Given the description of an element on the screen output the (x, y) to click on. 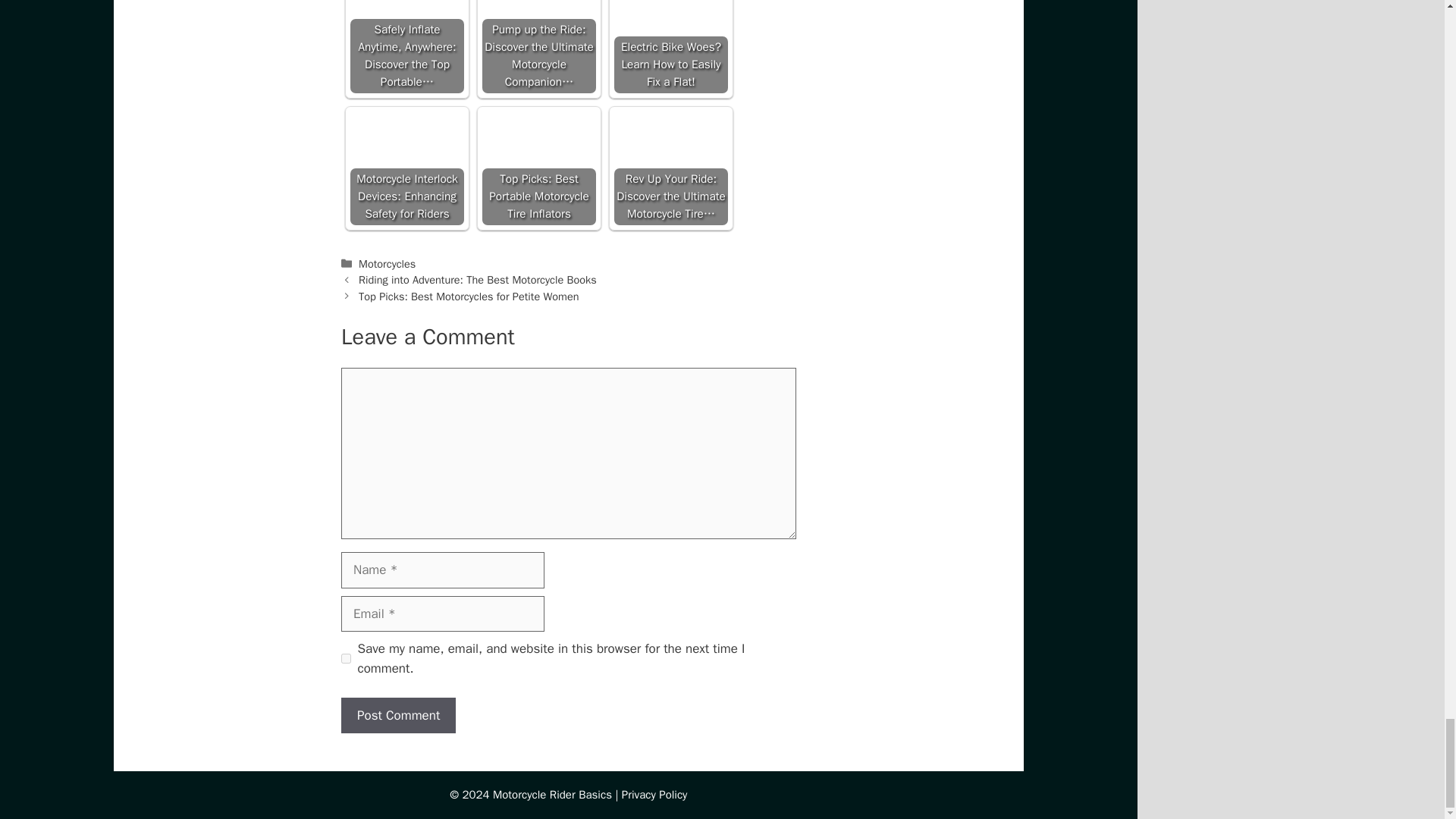
Electric Bike Woes? Learn How to Easily Fix a Flat! (671, 46)
Motorcycle Interlock Devices: Enhancing Safety for Riders (407, 149)
Post Comment (397, 715)
Privacy Policy (654, 794)
Electric Bike Woes? Learn How to Easily Fix a Flat! (671, 27)
Riding into Adventure: The Best Motorcycle Books (477, 279)
Motorcycles (386, 264)
Post Comment (397, 715)
Top Picks: Best Portable Motorcycle Tire Inflators (538, 168)
